Given the description of an element on the screen output the (x, y) to click on. 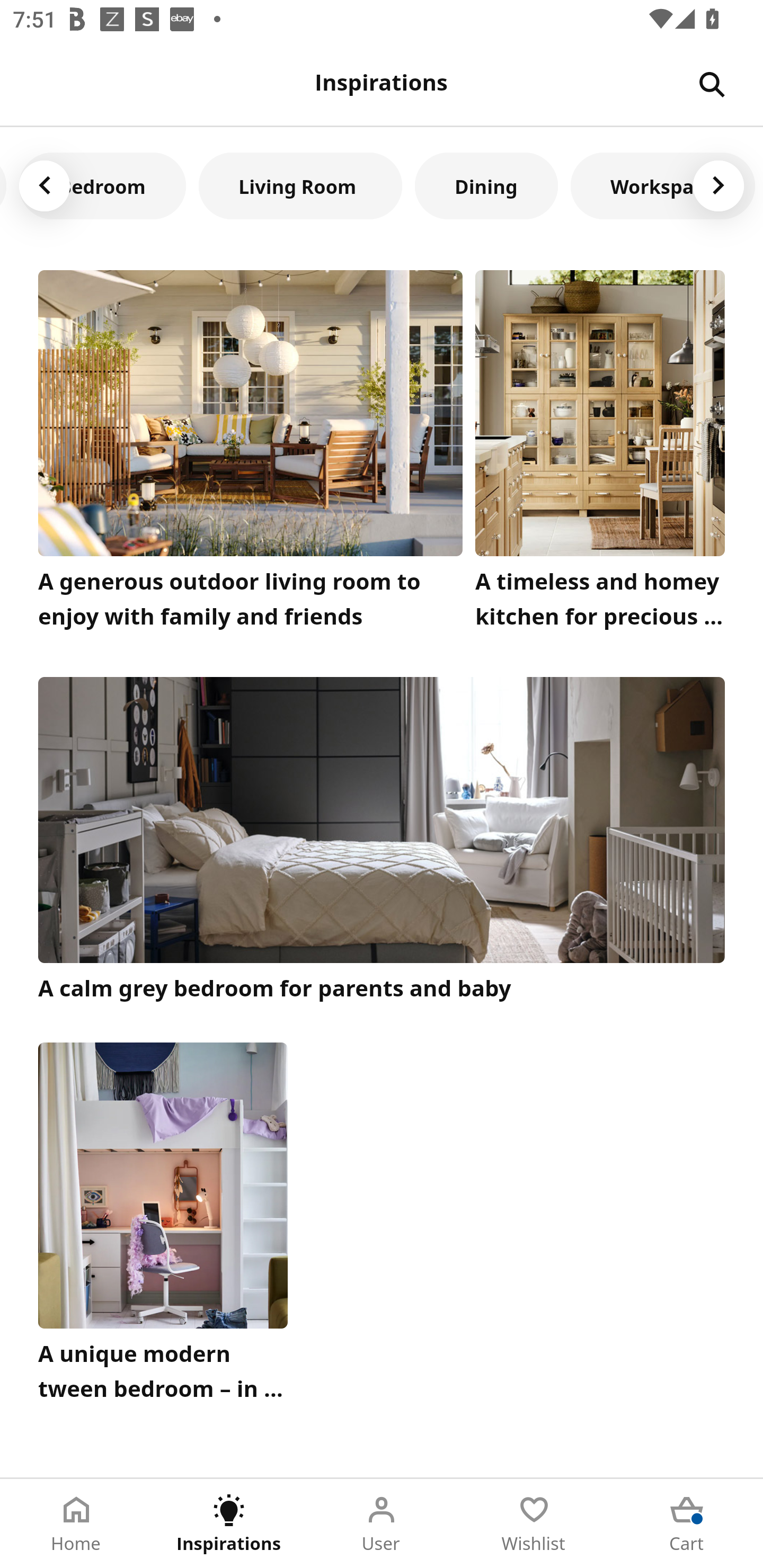
Living Room  (300, 185)
Dining (486, 185)
Workspace (662, 185)
A calm grey bedroom for parents and baby (381, 841)
A unique modern tween bedroom – in a nook (162, 1226)
Home
Tab 1 of 5 (76, 1522)
Inspirations
Tab 2 of 5 (228, 1522)
User
Tab 3 of 5 (381, 1522)
Wishlist
Tab 4 of 5 (533, 1522)
Cart
Tab 5 of 5 (686, 1522)
